Given the description of an element on the screen output the (x, y) to click on. 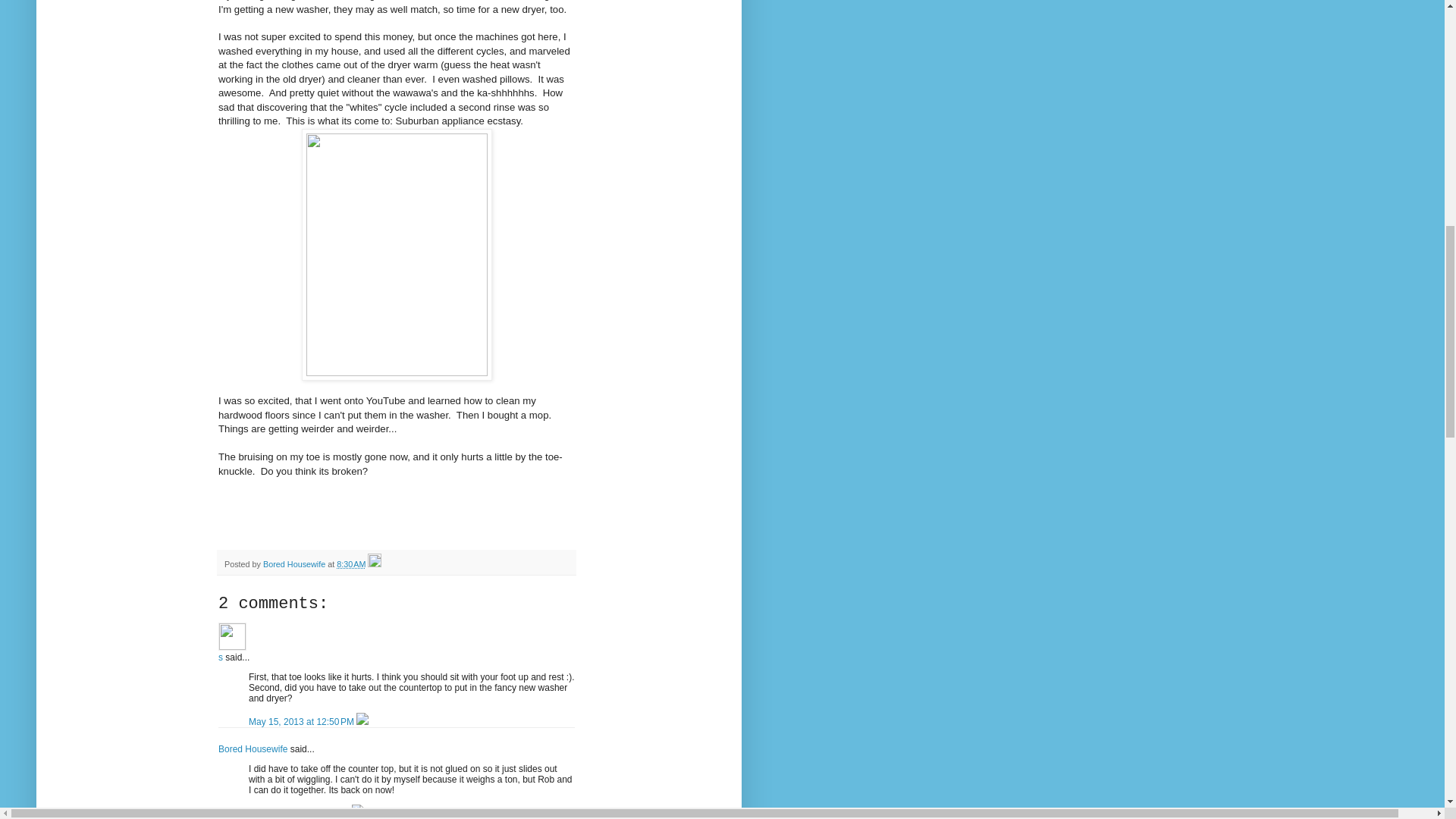
author profile (295, 563)
Delete Comment (362, 721)
Delete Comment (358, 813)
s (232, 636)
Bored Housewife (252, 748)
permanent link (350, 563)
Edit Post (374, 563)
Bored Housewife (295, 563)
comment permalink (302, 721)
comment permalink (300, 813)
